Given the description of an element on the screen output the (x, y) to click on. 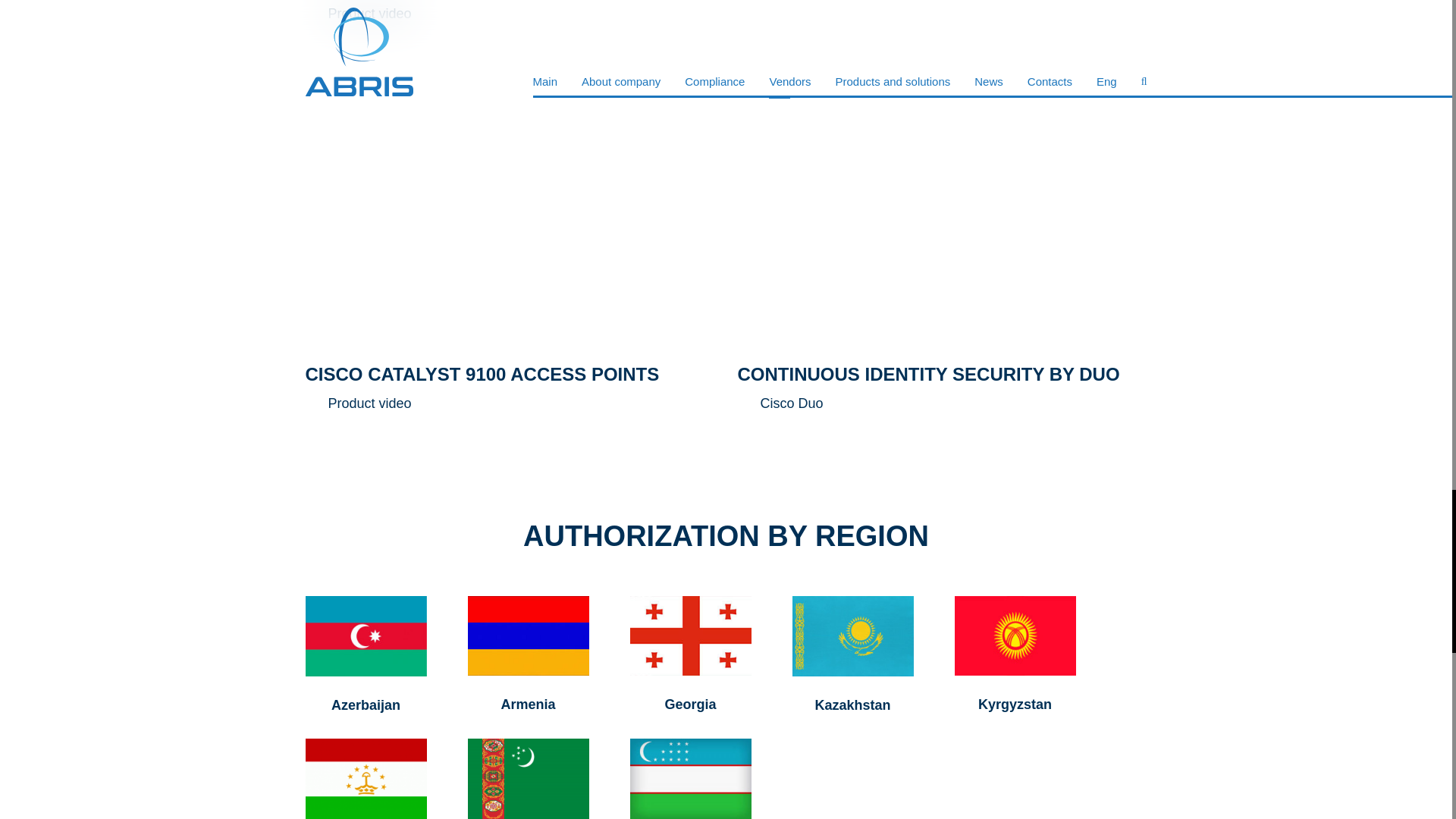
Kazakhstan (851, 704)
Armenia (527, 703)
Georgia (689, 703)
YouTube video player (509, 205)
YouTube video player (941, 205)
Azerbaijan (365, 704)
